Given the description of an element on the screen output the (x, y) to click on. 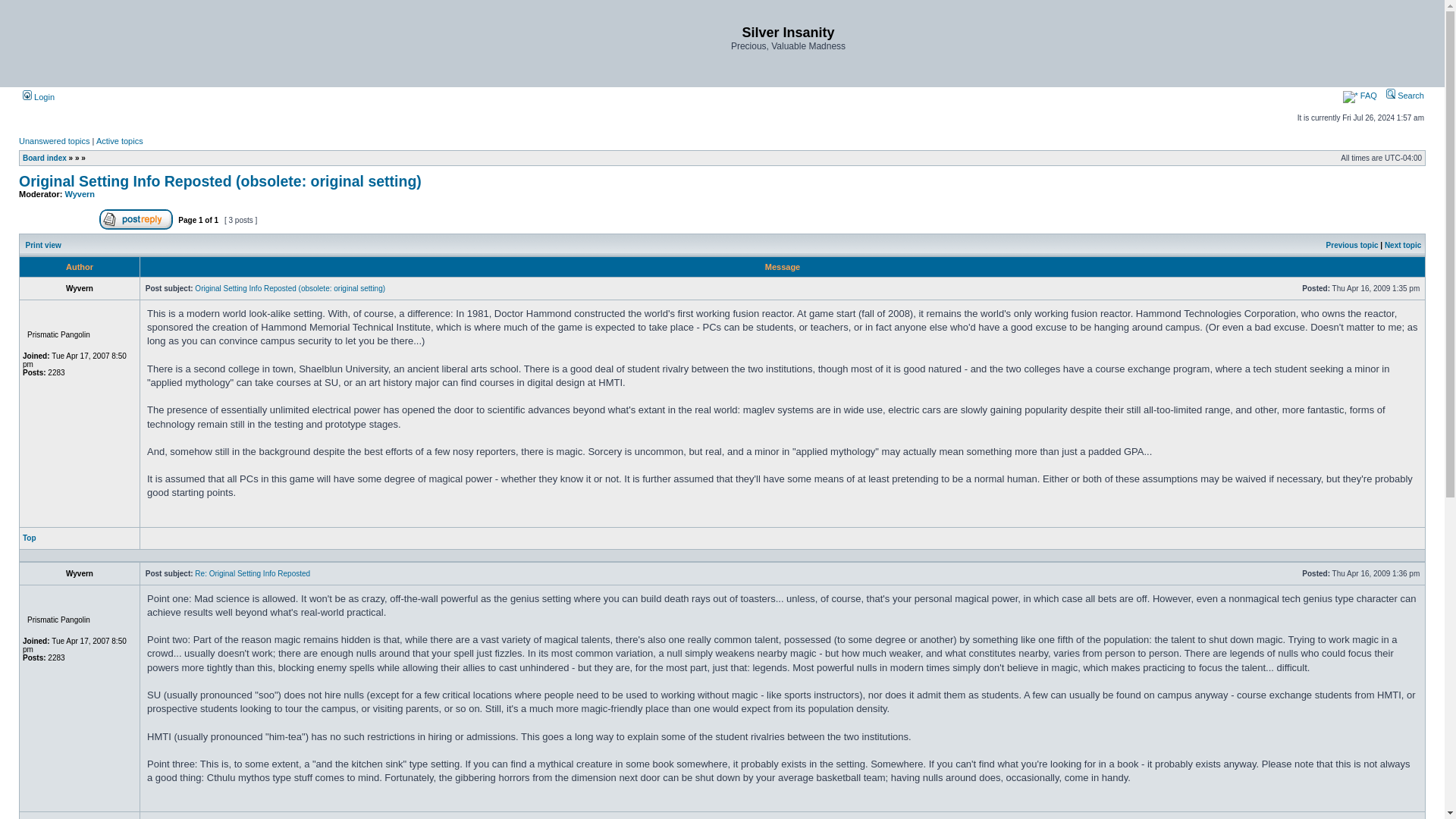
Offline (54, 600)
Reply with quote (1383, 537)
Login (39, 96)
Reply with quote (1383, 542)
Search (1404, 94)
Post new topic (57, 226)
Next topic (1402, 244)
Post new topic (57, 219)
Post (1296, 573)
Top (29, 537)
Active topics (119, 140)
Print view (43, 244)
Post (1296, 572)
Unanswered topics (54, 140)
UTC-4 (1403, 157)
